Given the description of an element on the screen output the (x, y) to click on. 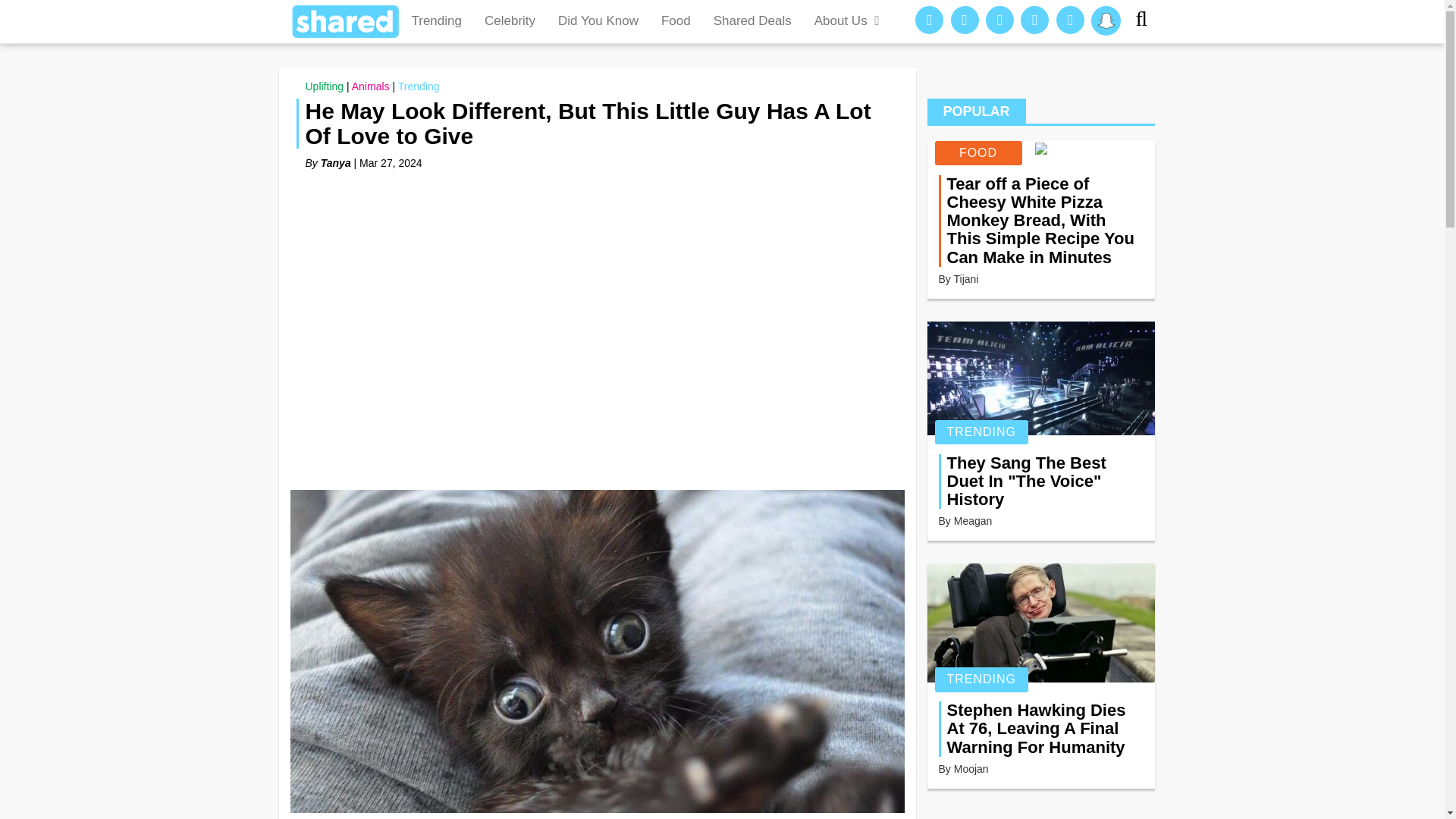
Uplifting (323, 86)
instagram (999, 19)
facebook (929, 19)
Tanya (335, 162)
Tanya's Profile (335, 162)
twitter (1034, 19)
youtube (1070, 19)
pinterest (964, 19)
Celebrity (510, 21)
About Us (848, 21)
Trending (436, 21)
Shared Deals (752, 21)
Search (1147, 21)
snapchat (1105, 20)
Tijani's Profile (965, 278)
